Given the description of an element on the screen output the (x, y) to click on. 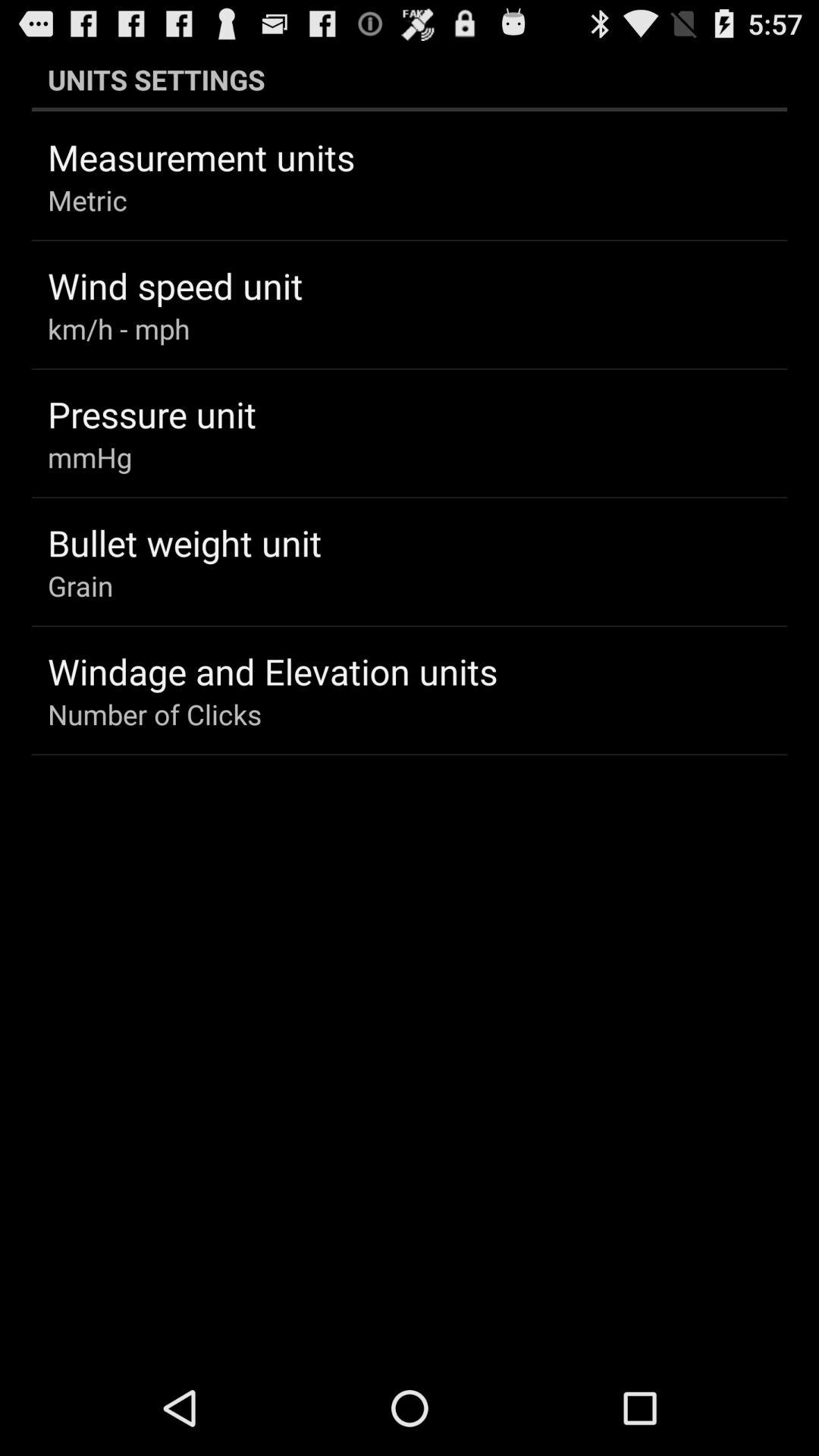
open the icon above measurement units app (409, 79)
